Given the description of an element on the screen output the (x, y) to click on. 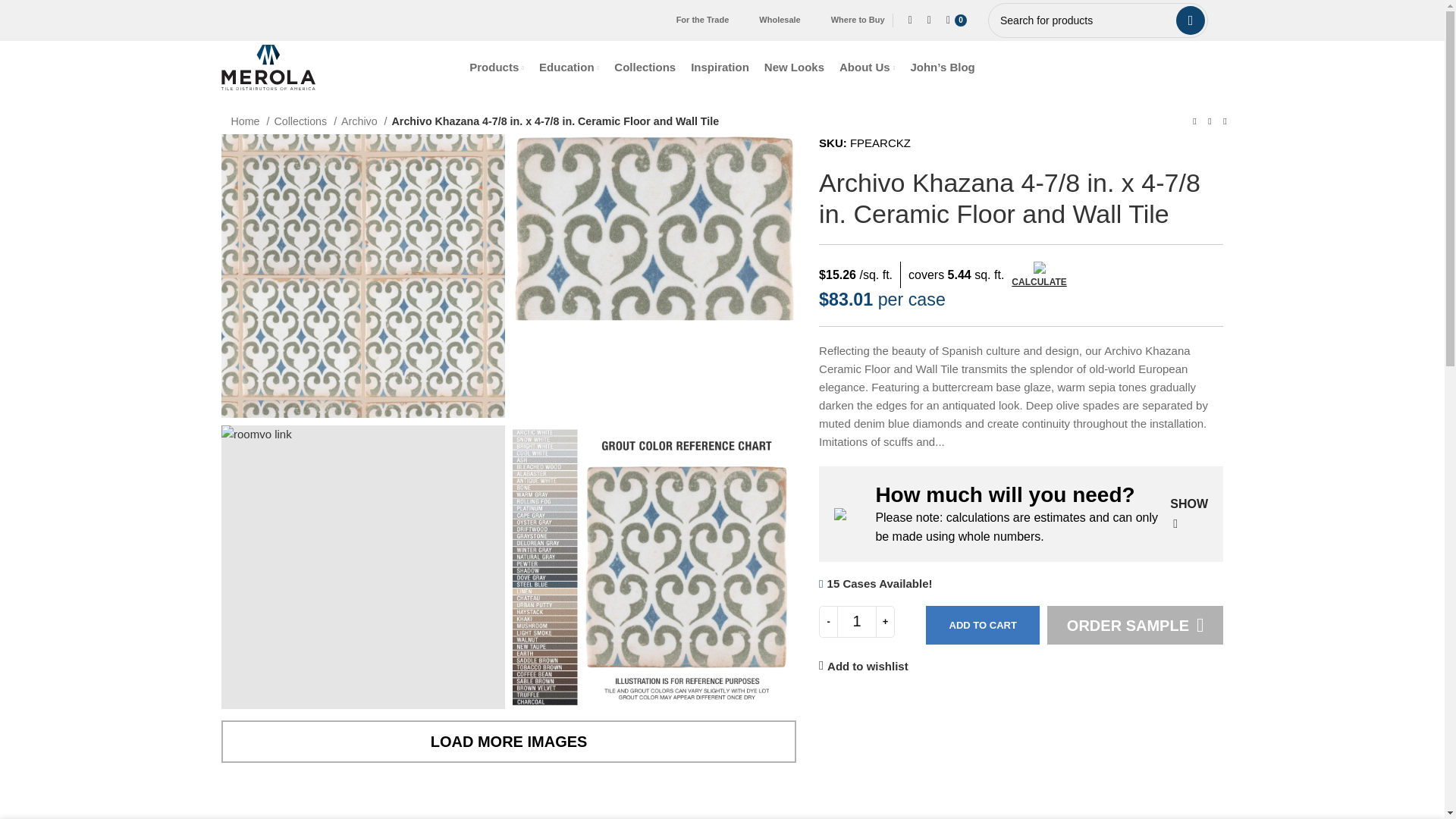
Where to Buy (858, 20)
0 (959, 20)
For the Trade (703, 20)
Shopping cart (959, 20)
1 (857, 622)
Wholesale (778, 20)
Search for products (1098, 20)
SEARCH (1190, 20)
Products (496, 67)
